Given the description of an element on the screen output the (x, y) to click on. 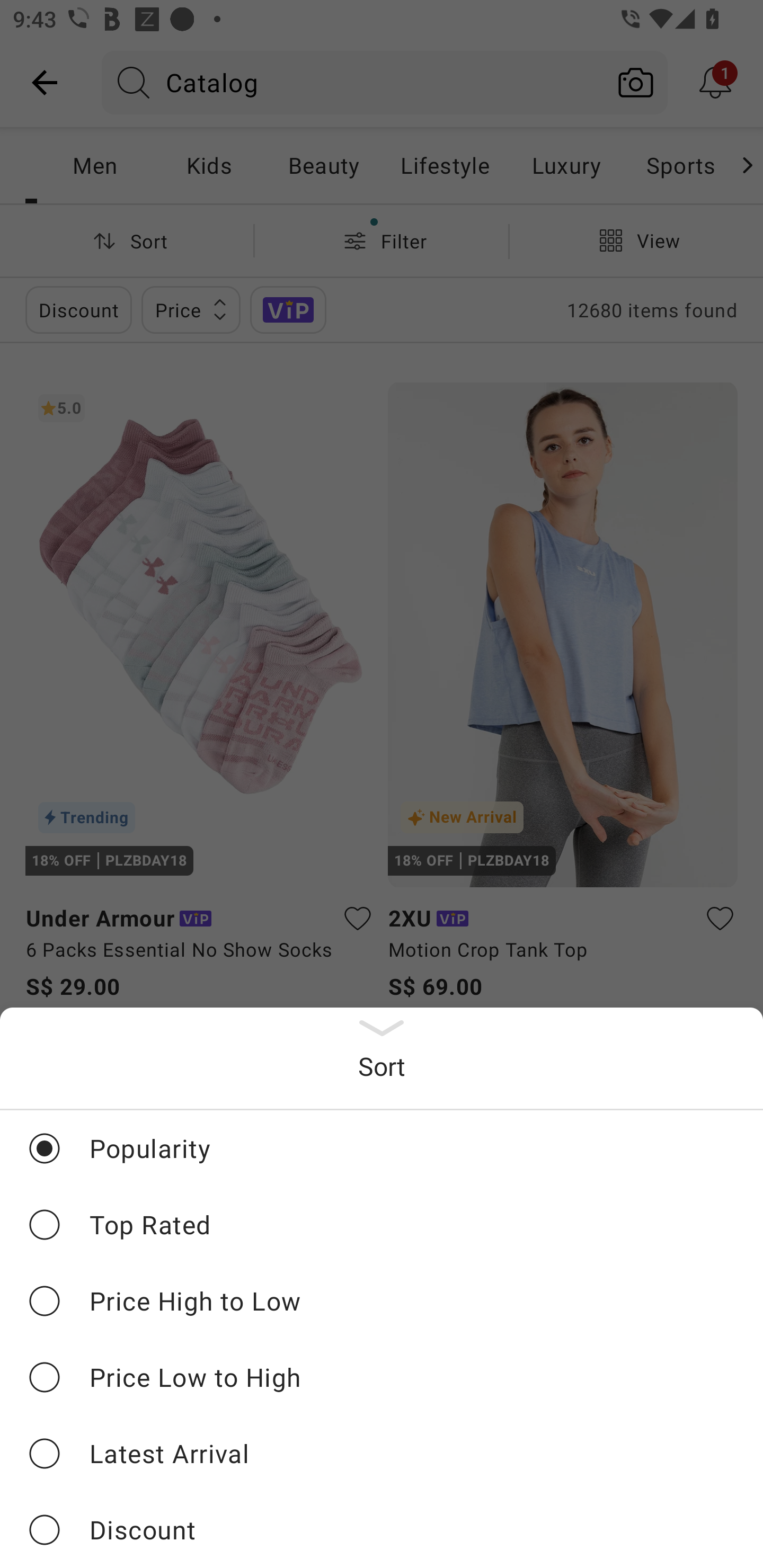
Popularity (381, 1148)
Top Rated (381, 1224)
Price High to Low (381, 1300)
Price Low to High (381, 1377)
Latest Arrival (381, 1453)
Discount (381, 1529)
